Given the description of an element on the screen output the (x, y) to click on. 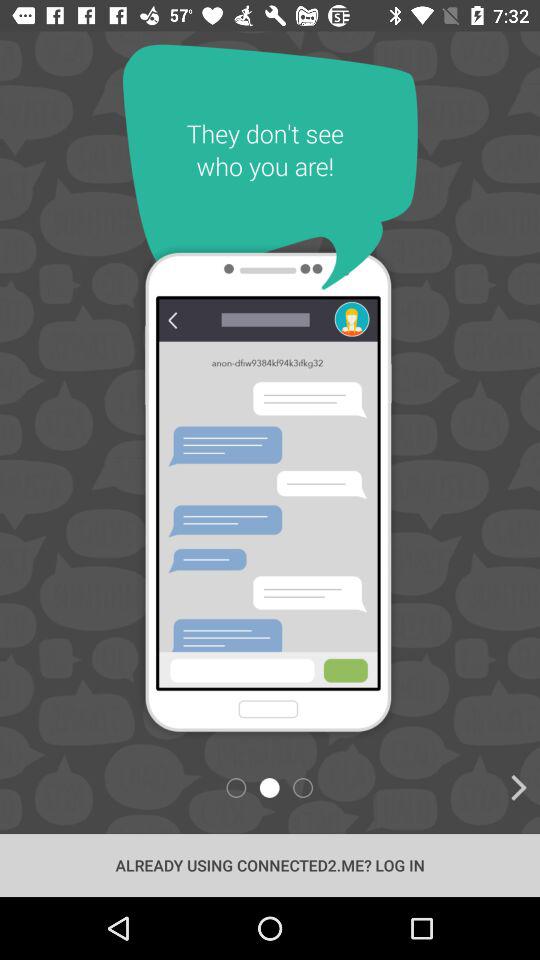
tap item above already using connected2 icon (116, 787)
